Given the description of an element on the screen output the (x, y) to click on. 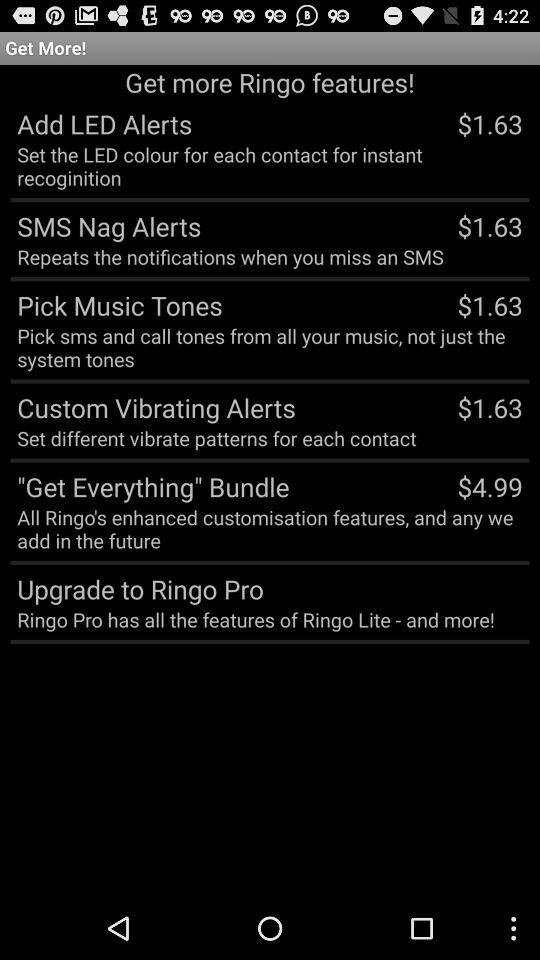
choose the item above custom vibrating alerts app (269, 347)
